Given the description of an element on the screen output the (x, y) to click on. 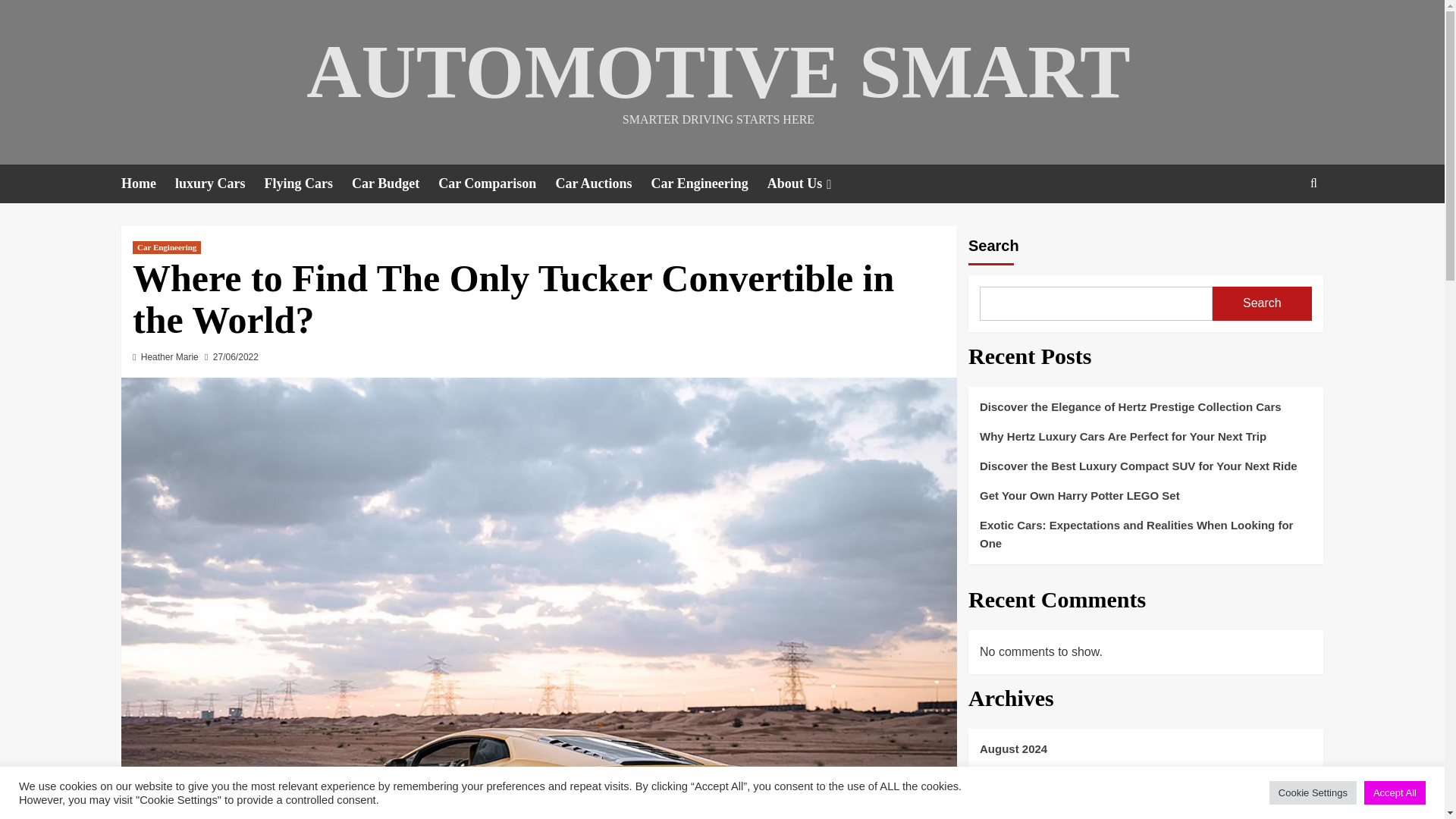
About Us (811, 183)
Heather Marie (169, 357)
Car Comparison (496, 183)
Car Engineering (166, 246)
Home (147, 183)
luxury Cars (219, 183)
Car Budget (395, 183)
AUTOMOTIVE SMART (717, 71)
Flying Cars (307, 183)
